Given the description of an element on the screen output the (x, y) to click on. 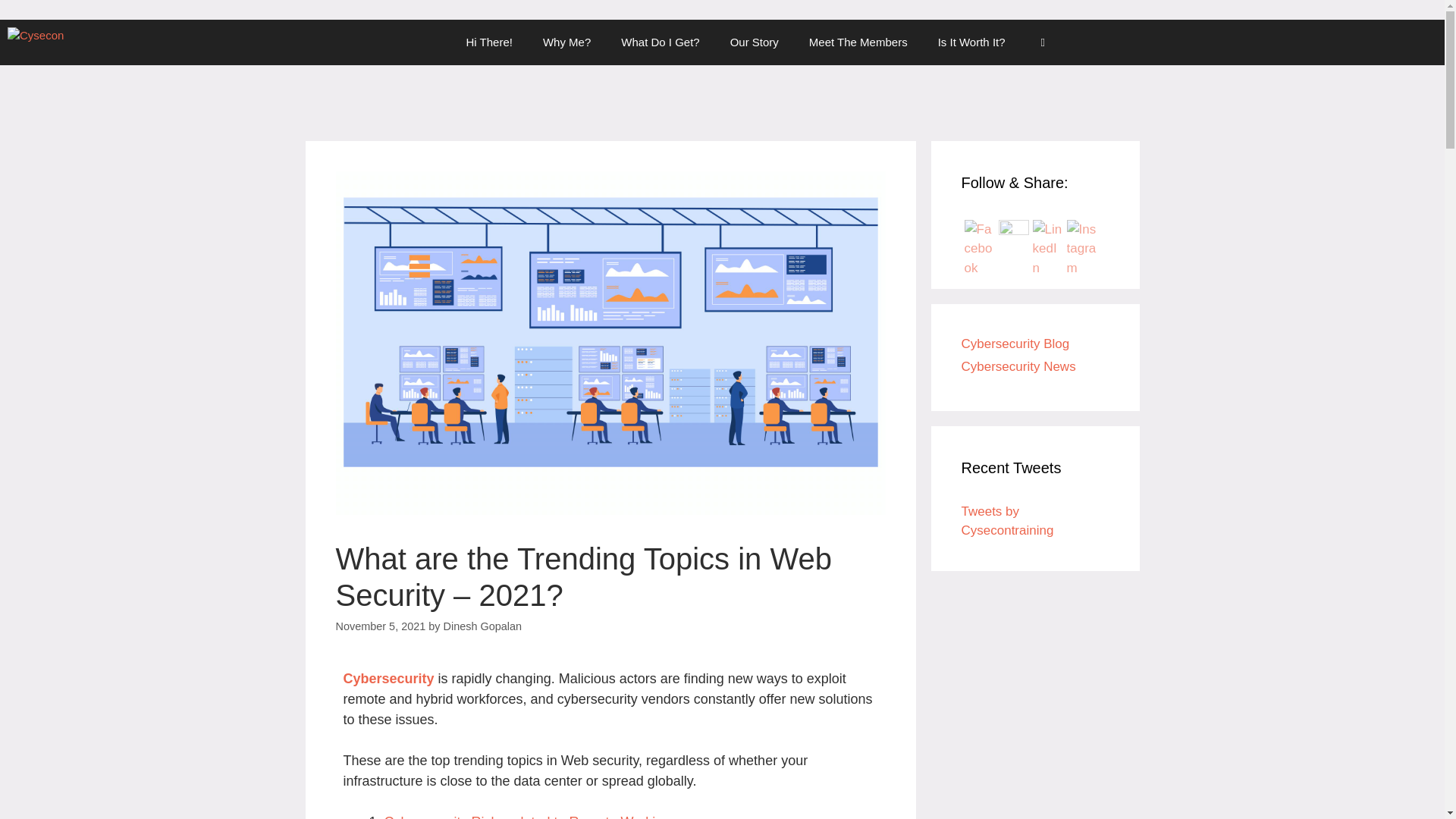
Cybersecurity (387, 678)
Our Story (753, 42)
Meet The Members (858, 42)
Cybersecurity Risks related to Remote Working  (529, 816)
Is It Worth It? (971, 42)
Facebook (978, 249)
LinkedIn (1047, 249)
What Do I Get? (659, 42)
Hi There! (489, 42)
Why Me? (566, 42)
View all posts by Dinesh Gopalan (483, 625)
Cysecon (35, 42)
Dinesh Gopalan (483, 625)
